Given the description of an element on the screen output the (x, y) to click on. 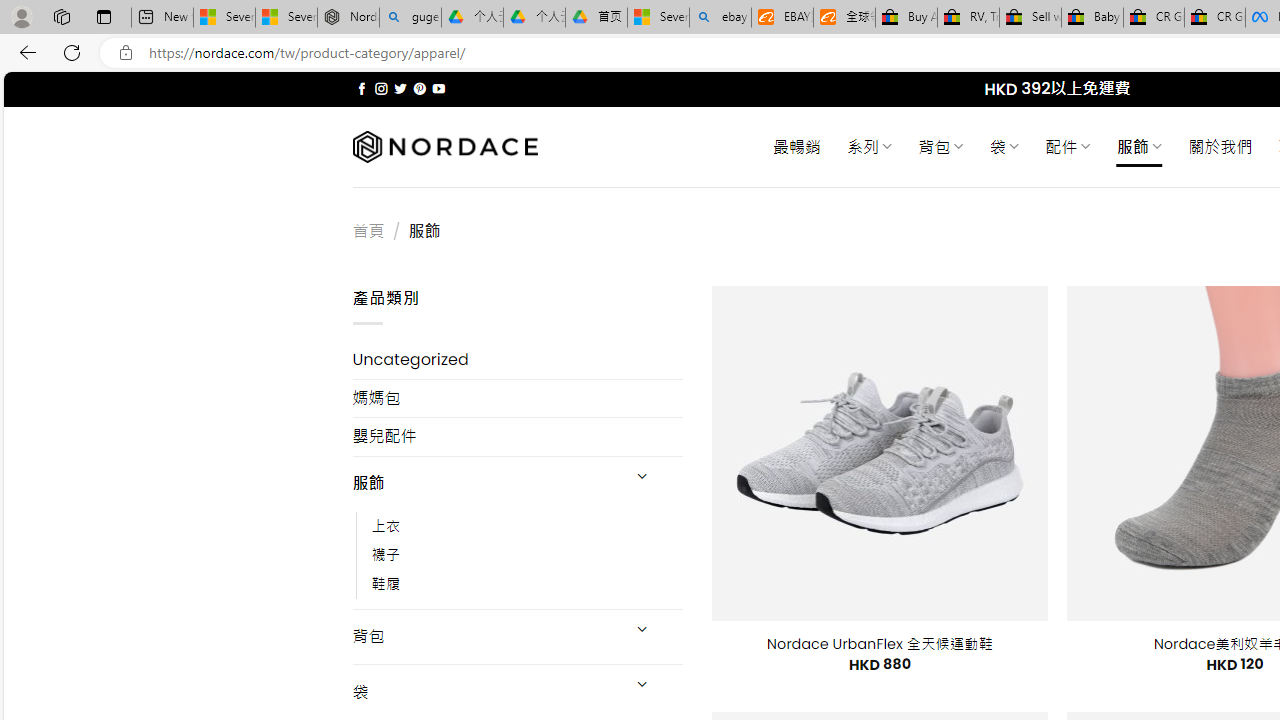
Uncategorized (517, 359)
Follow on Twitter (400, 88)
Follow on Pinterest (419, 88)
